Given the description of an element on the screen output the (x, y) to click on. 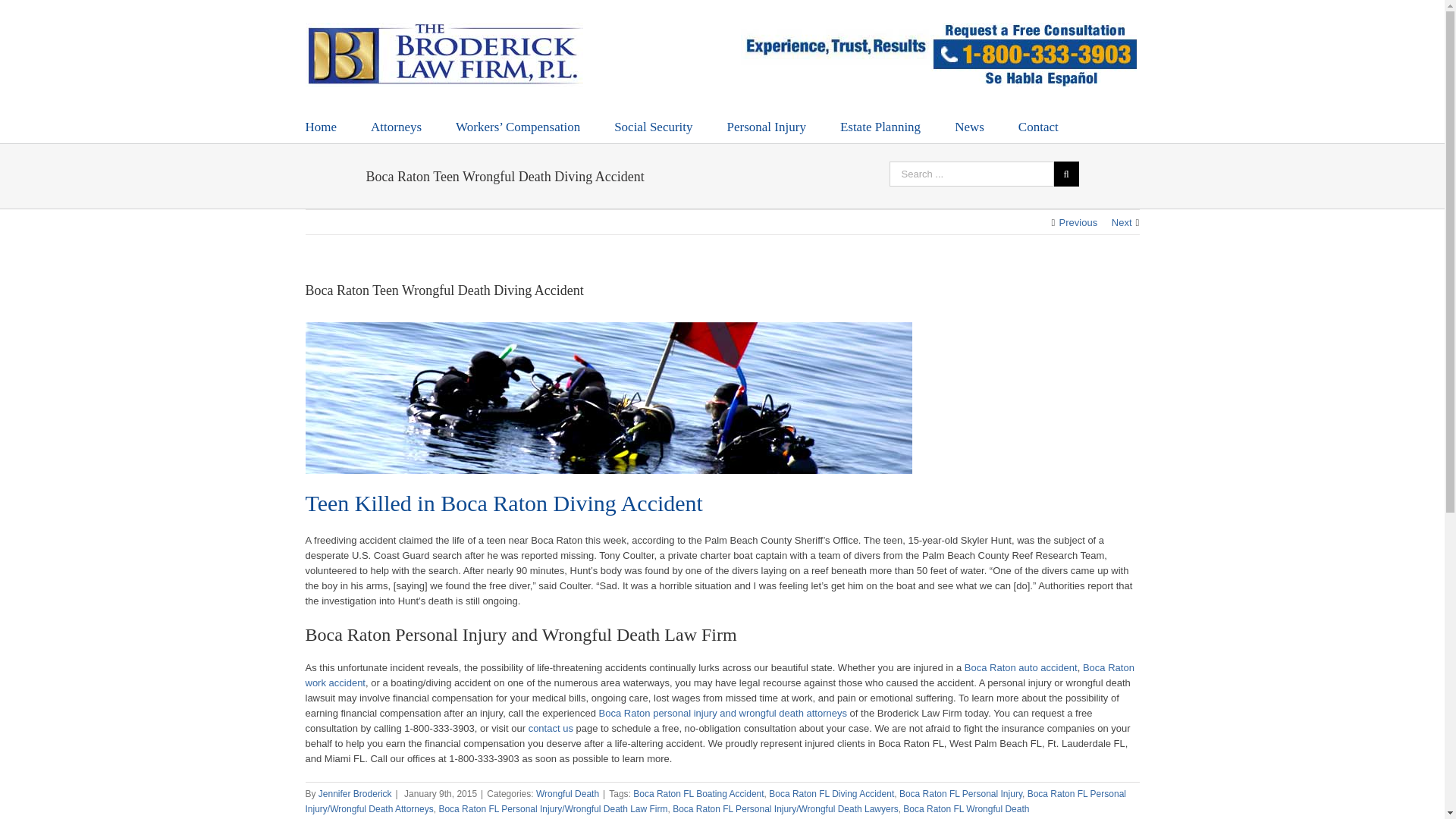
contact us (550, 727)
Personal Injury (766, 126)
Contact (1037, 126)
Boca Raton FL Personal Injury (960, 793)
Social Security (653, 126)
Home (320, 126)
Wrongful Death (566, 793)
News (969, 126)
Next (1122, 222)
Previous (1078, 222)
Boca Raton FL Diving Accident (830, 793)
Boca Raton personal injury and wrongful death attorneys (722, 713)
Boca Raton work accident (719, 674)
Boca Raton FL Boating Accident (697, 793)
Attorneys (396, 126)
